Given the description of an element on the screen output the (x, y) to click on. 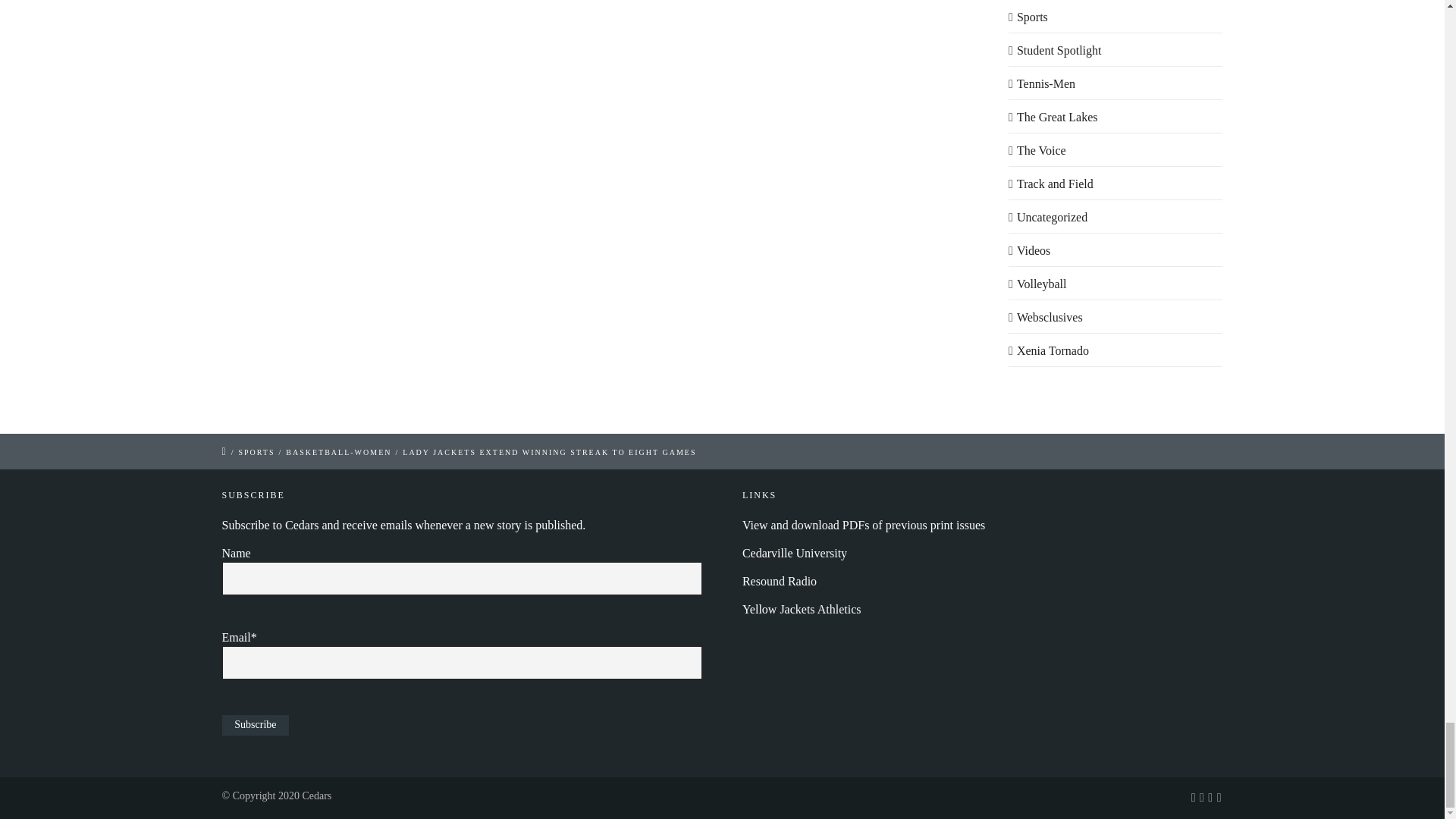
Cedarville University (794, 553)
Previous issues (863, 524)
Yellow Jackets Athletics (801, 608)
Subscribe (254, 724)
Resound Radio (779, 581)
